Given the description of an element on the screen output the (x, y) to click on. 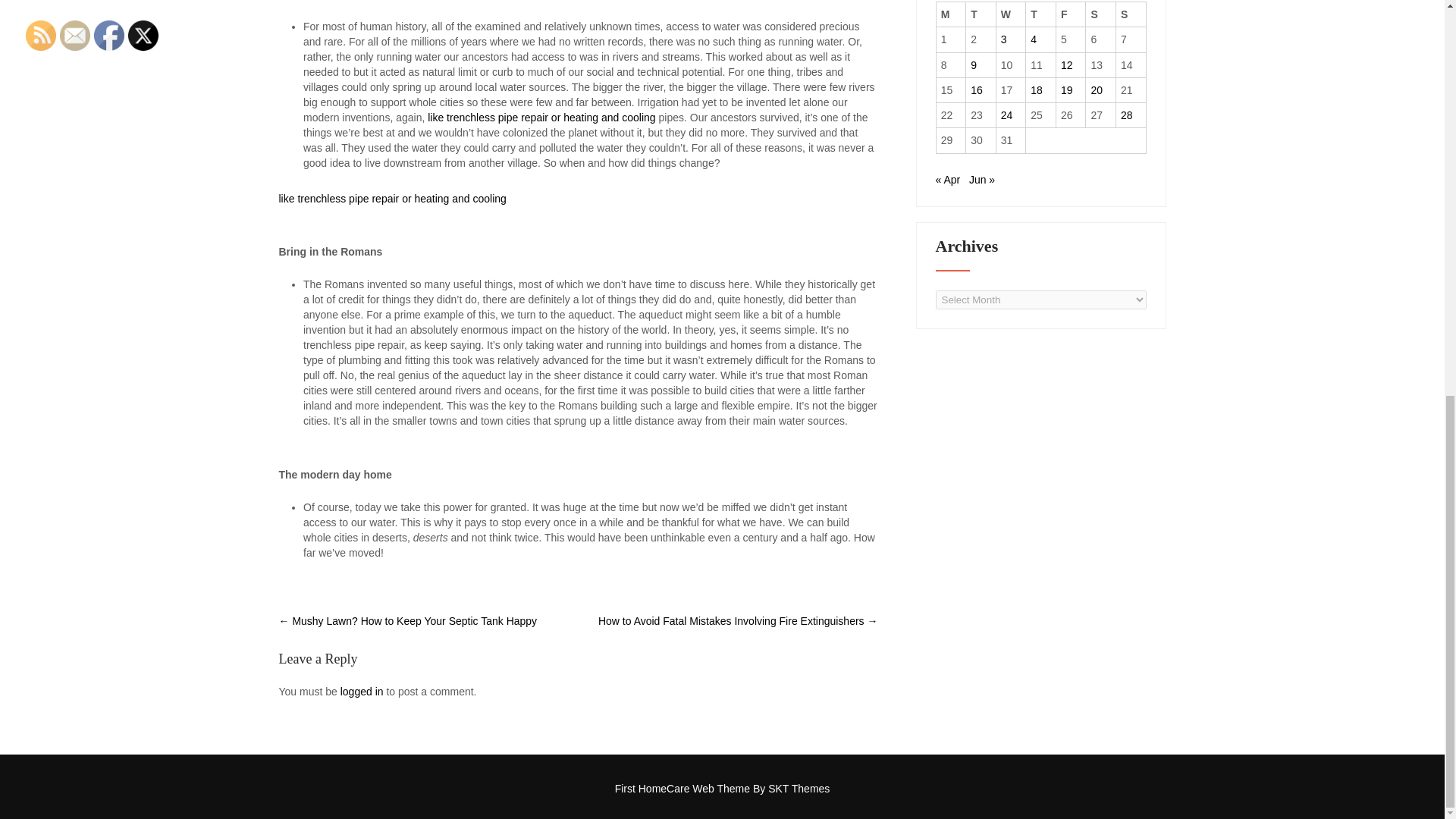
18 (1036, 90)
Sunday (1131, 14)
like trenchless pipe repair or heating and cooling (392, 198)
logged in (362, 691)
Saturday (1101, 14)
19 (1067, 90)
24 (1007, 114)
Tuesday (980, 14)
12 (1067, 64)
like trenchless pipe repair or heating and cooling (541, 117)
